Given the description of an element on the screen output the (x, y) to click on. 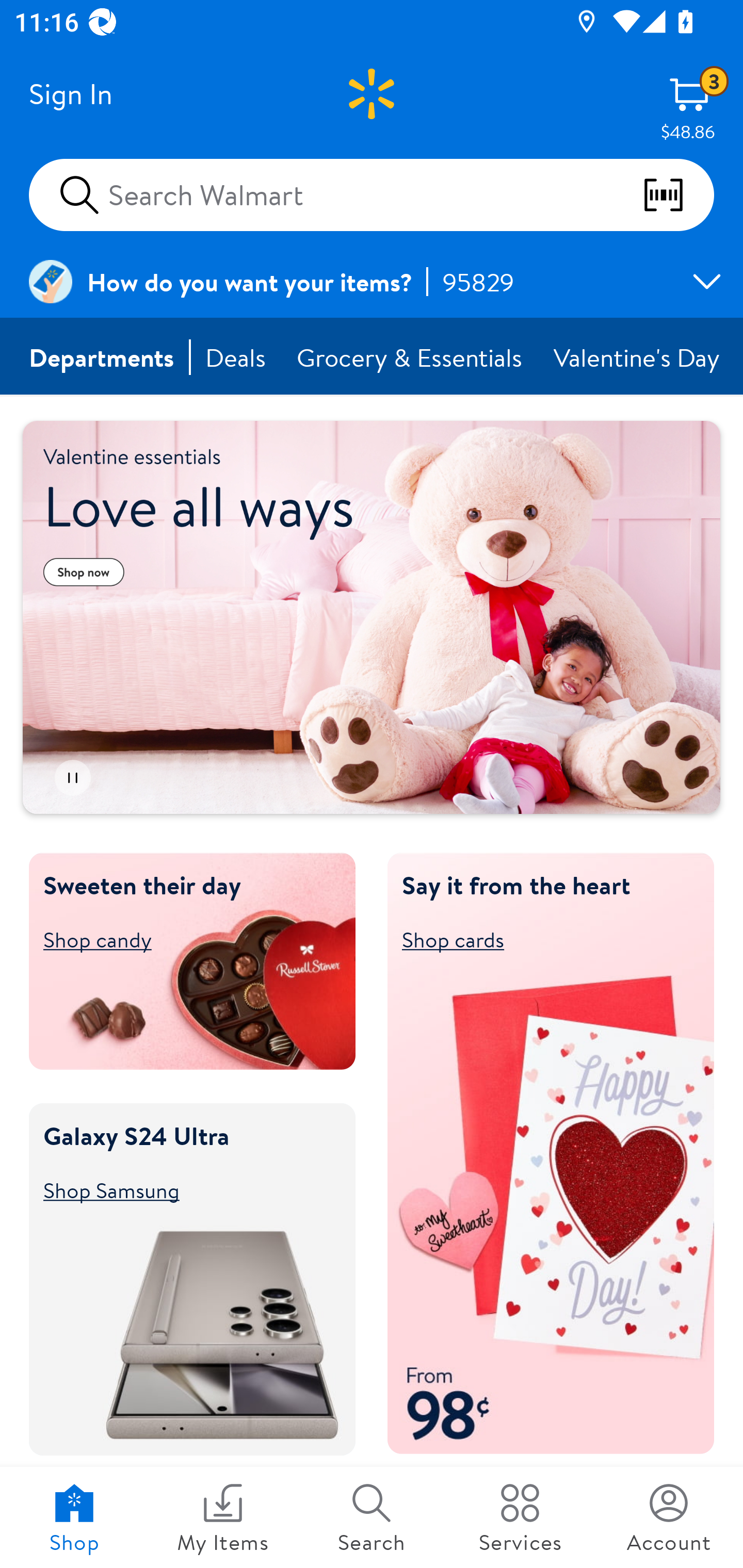
Sign In (70, 93)
Search Walmart scan barcodes qr codes and more (371, 194)
scan barcodes qr codes and more (677, 195)
Departments (102, 357)
Deals (236, 357)
Grocery & Essentials (410, 357)
Valentine's Day (637, 357)
Pause (72, 777)
Shop candy Shop candy Sweeten their day (183, 939)
Shop cards Shop cards Say it from the heart (541, 939)
Shop Samsung Shop Samsung Galaxy S24 Ultra (183, 1190)
My Items (222, 1517)
Search (371, 1517)
Services (519, 1517)
Account (668, 1517)
